Given the description of an element on the screen output the (x, y) to click on. 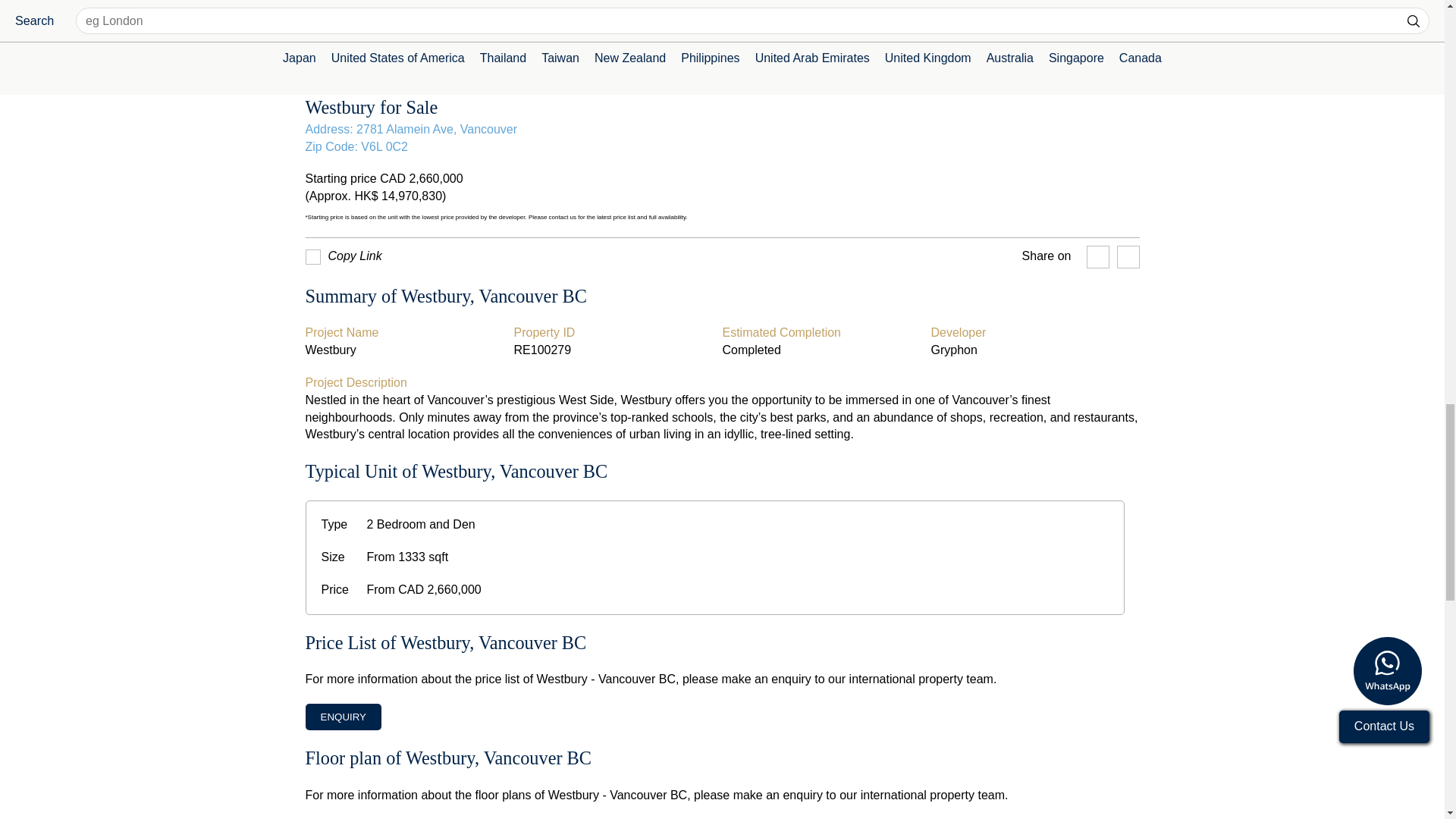
ENQUIRY (342, 716)
